Given the description of an element on the screen output the (x, y) to click on. 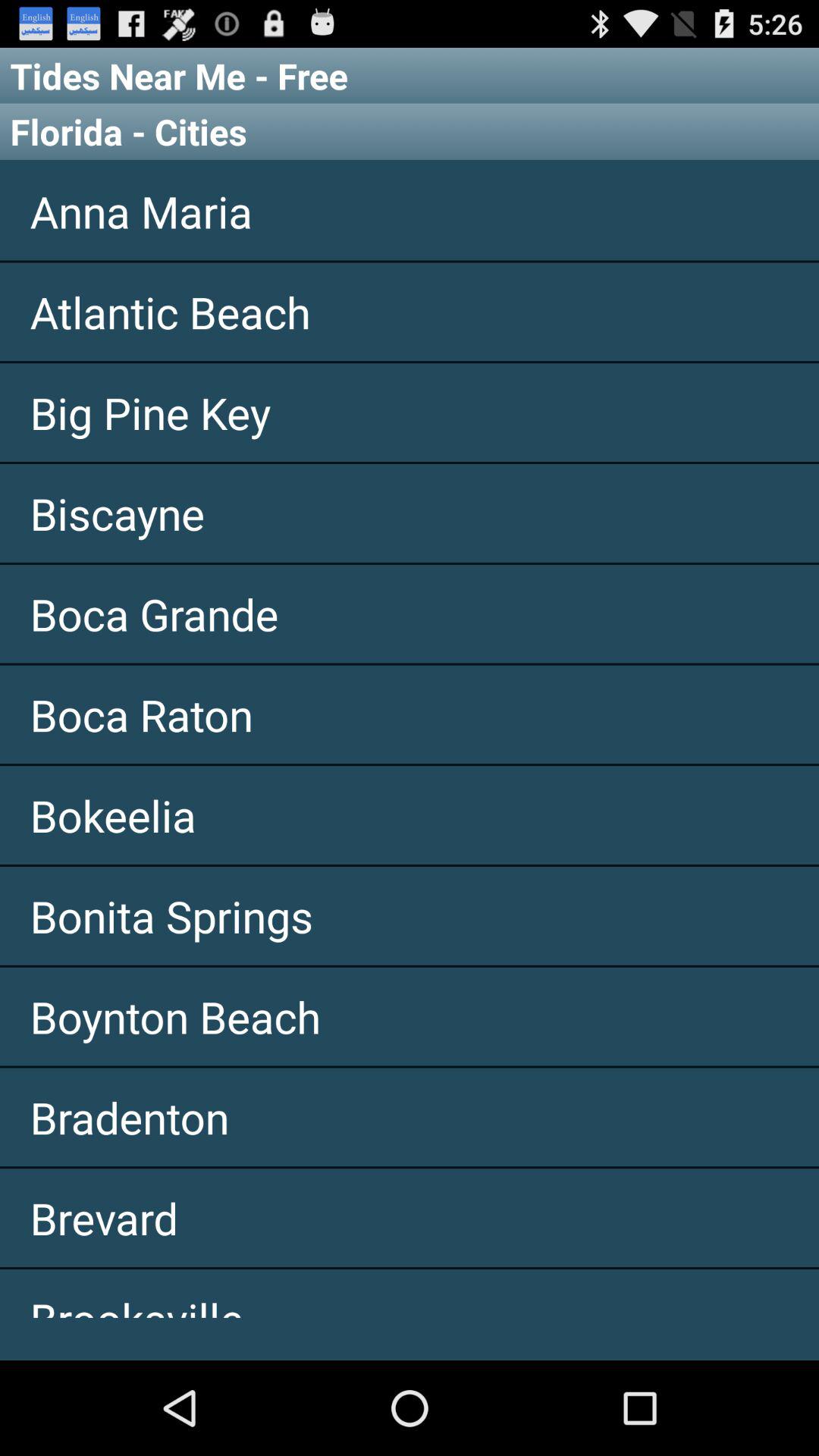
launch item below tides near me (409, 131)
